Given the description of an element on the screen output the (x, y) to click on. 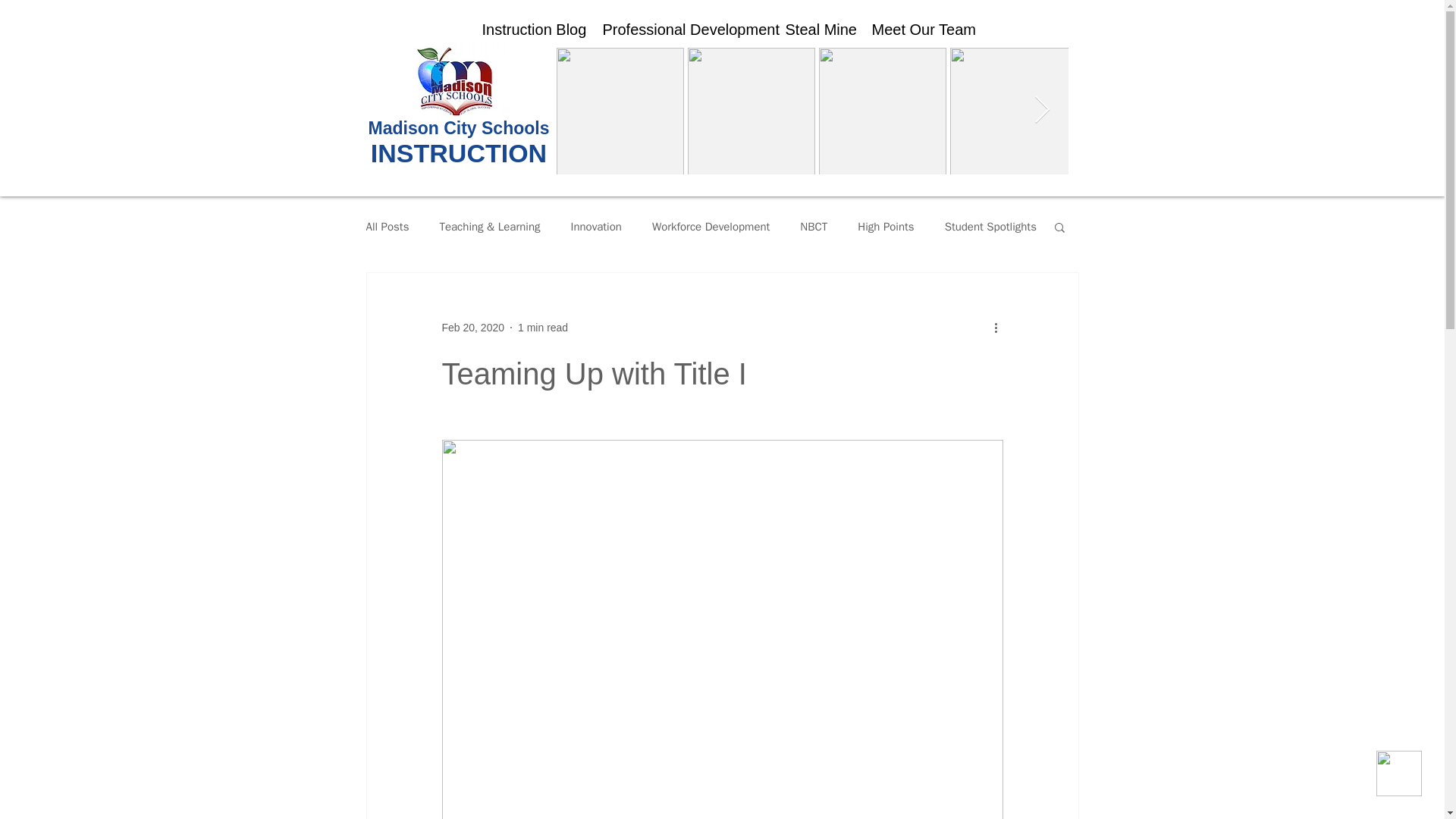
High Points (885, 227)
NBCT (813, 227)
All Posts (387, 227)
Instruction Blog (530, 29)
Meet Our Team (917, 29)
Professional Development (682, 29)
Steal Mine (816, 29)
Workforce Development (711, 227)
Feb 20, 2020 (472, 327)
Innovation (595, 227)
Student Spotlights (990, 227)
1 min read (542, 327)
